Given the description of an element on the screen output the (x, y) to click on. 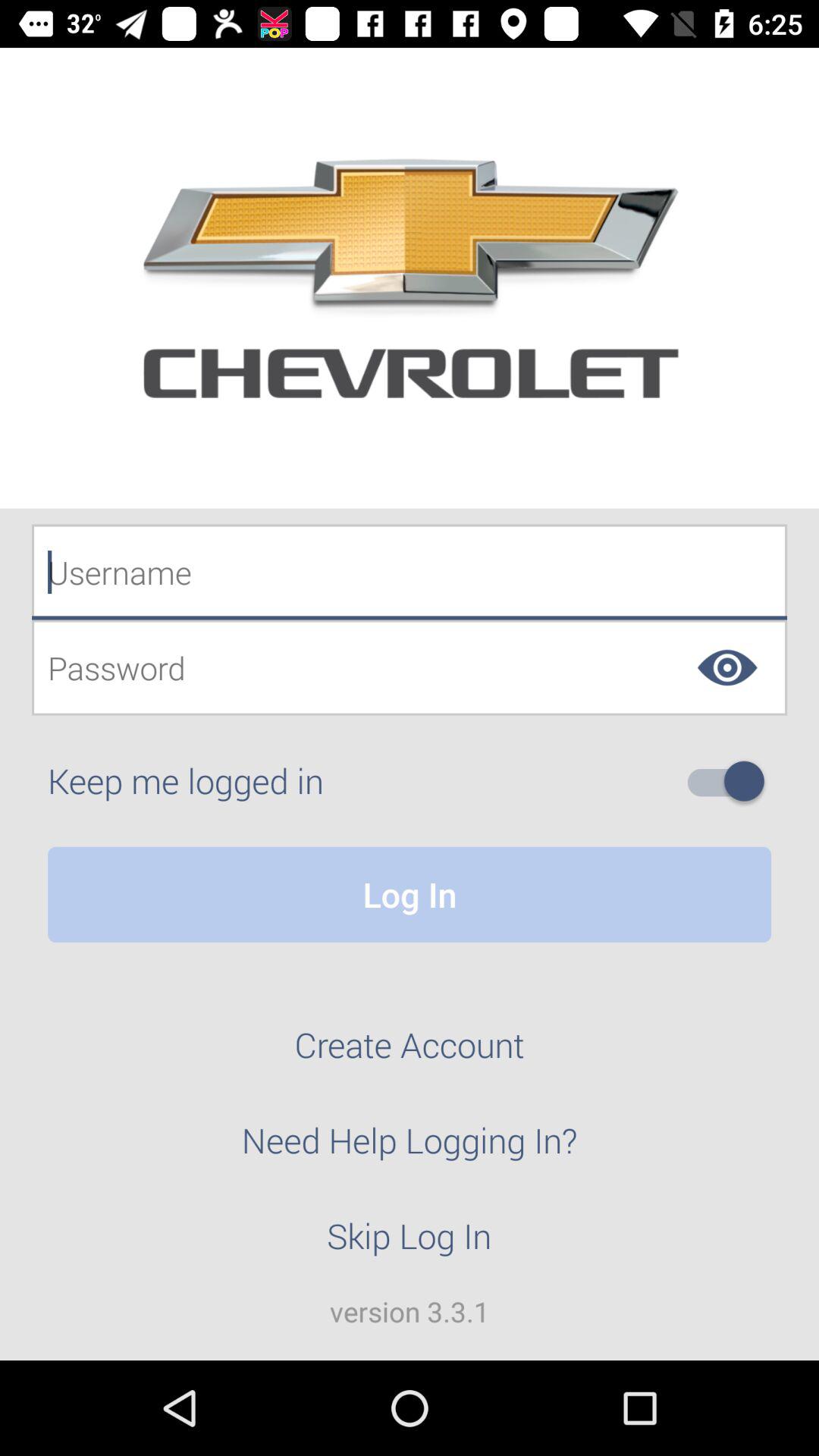
scroll to the need help logging item (409, 1149)
